Given the description of an element on the screen output the (x, y) to click on. 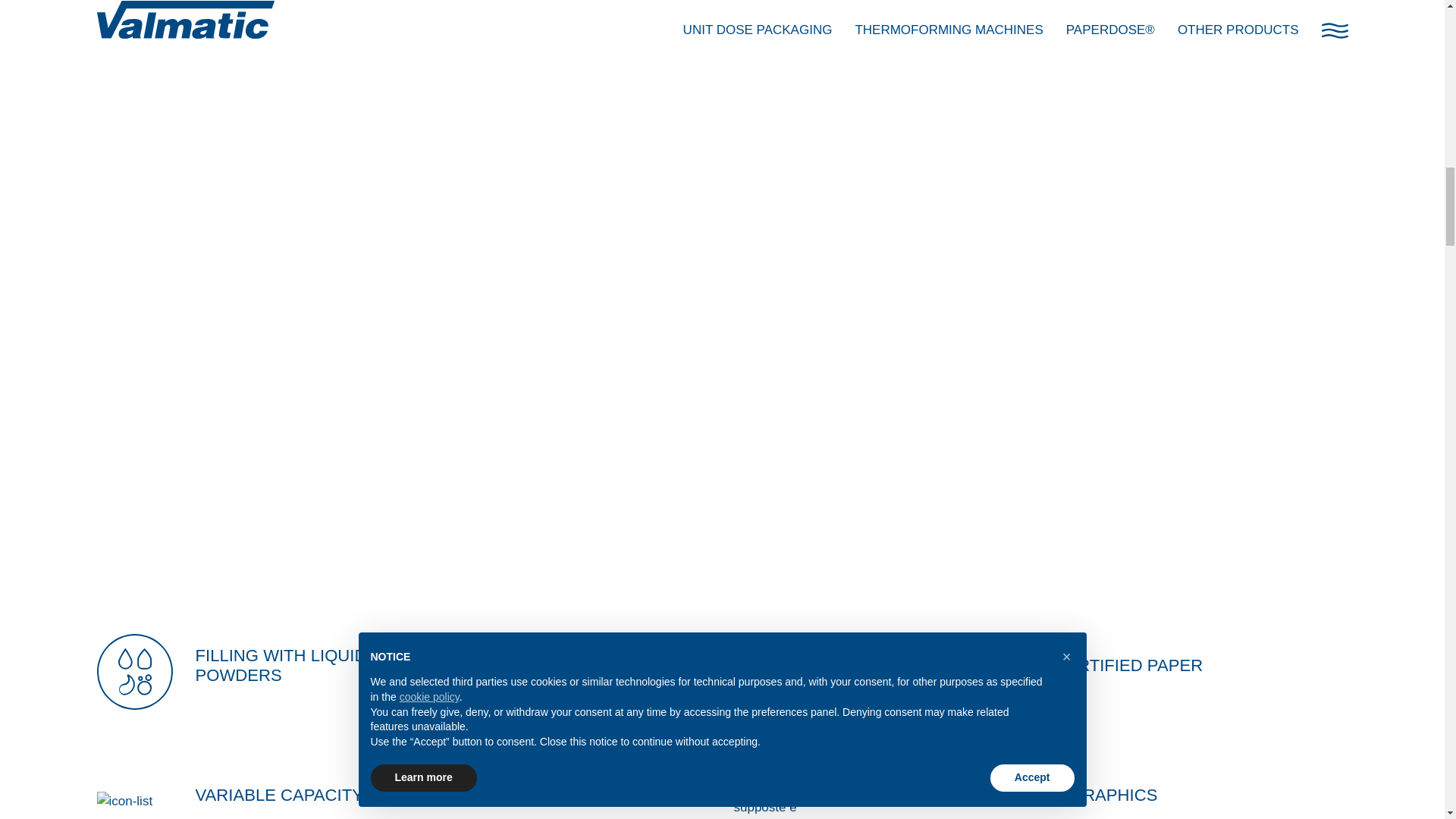
icon-gel (135, 671)
personalizzazione supposte e ovuli (771, 792)
materiali confezionamento supposte e ovuli (771, 671)
icon-list (135, 801)
